Given the description of an element on the screen output the (x, y) to click on. 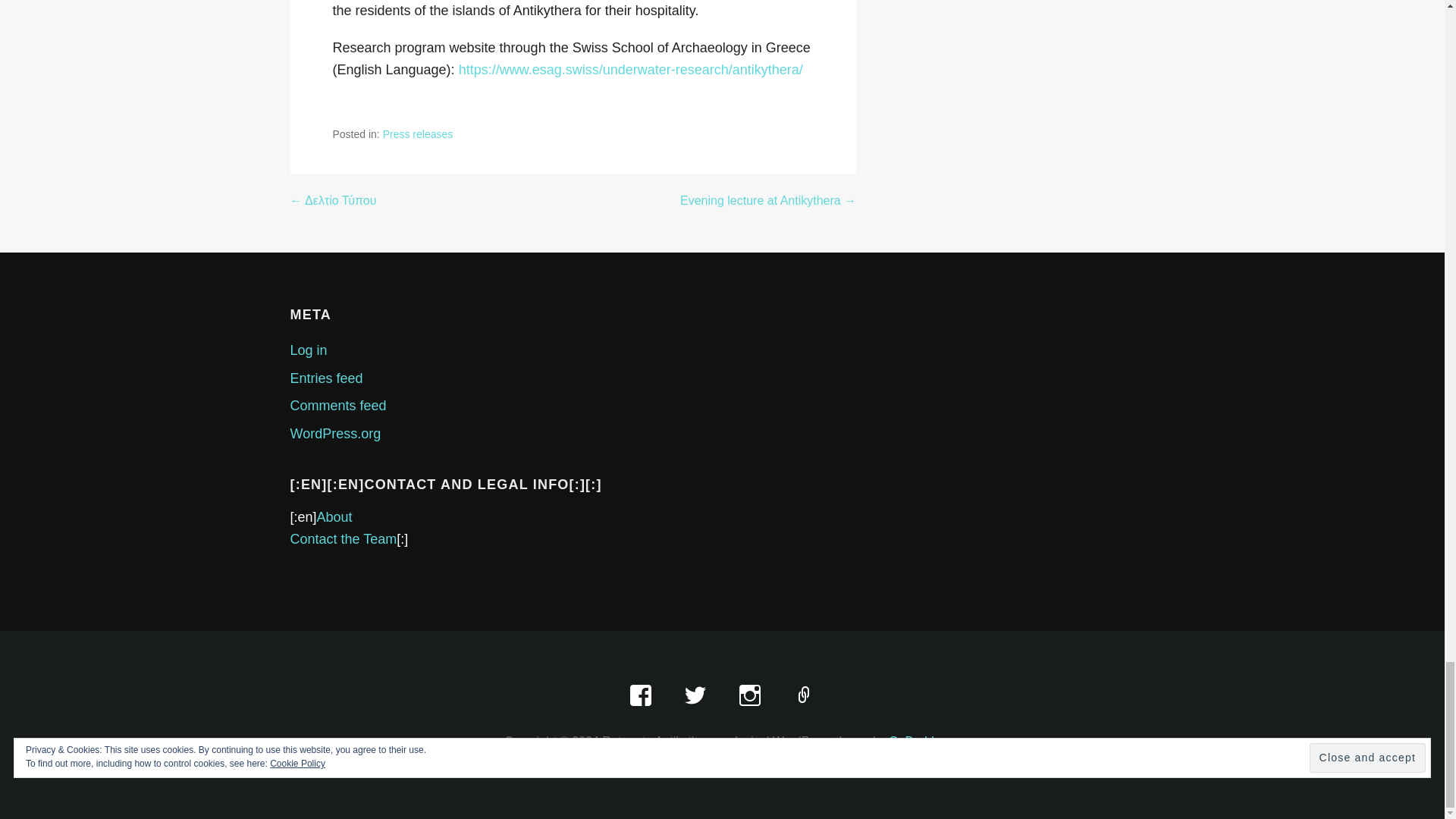
WordPress.org (334, 433)
Facebook (639, 695)
Twitter (694, 695)
Entries feed (325, 378)
GoDaddy (914, 740)
About (334, 516)
Contact the Team (342, 539)
Email (803, 695)
Comments feed (337, 405)
Press releases (417, 133)
